Given the description of an element on the screen output the (x, y) to click on. 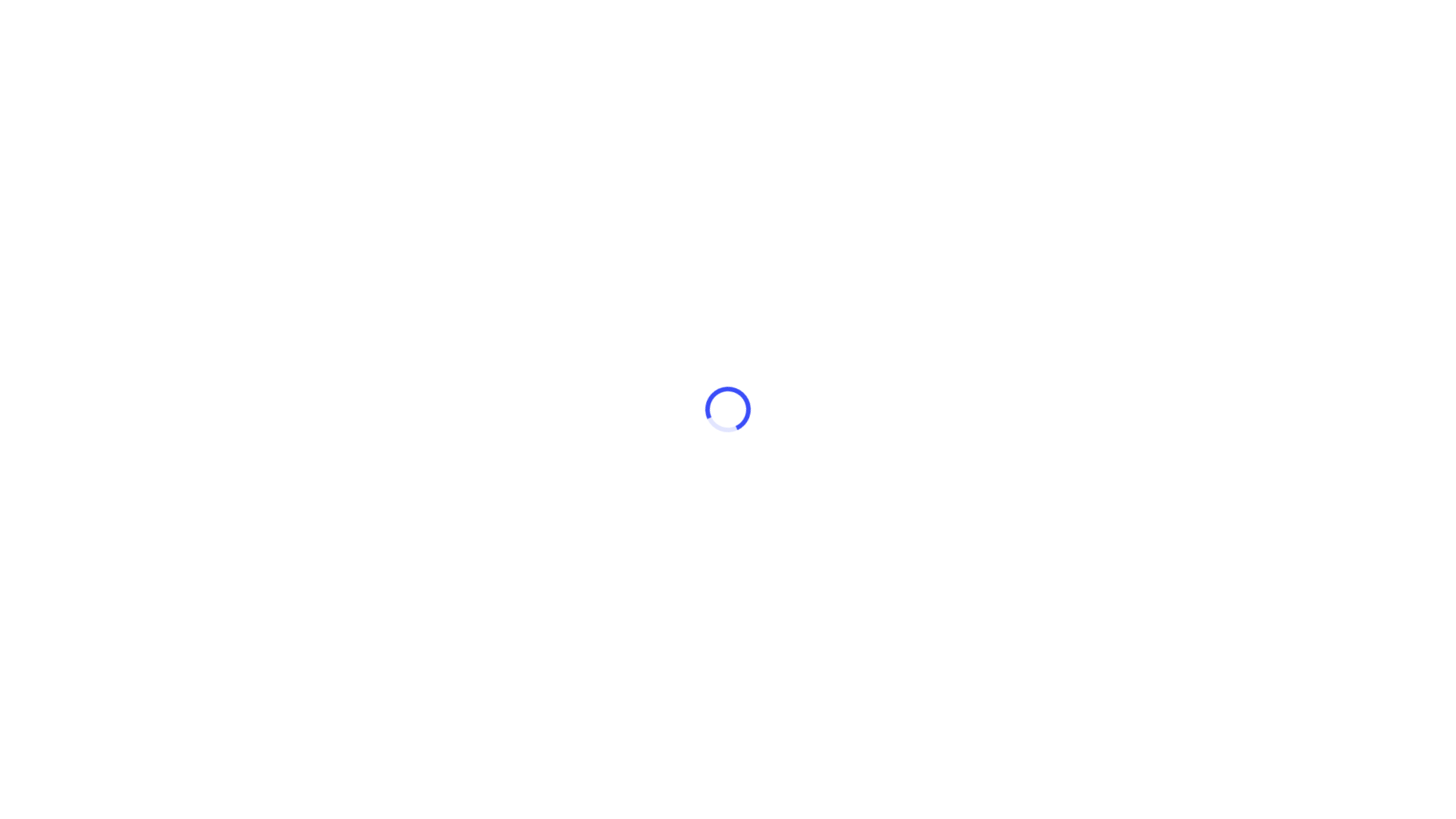
Nous Contacter Element type: text (1105, 26)
Choix de l'offre Element type: text (410, 80)
Accueil Element type: text (327, 80)
S'inscrire Element type: text (1035, 575)
Accueil Element type: text (1021, 26)
AGC-VIE Element type: text (359, 26)
